Given the description of an element on the screen output the (x, y) to click on. 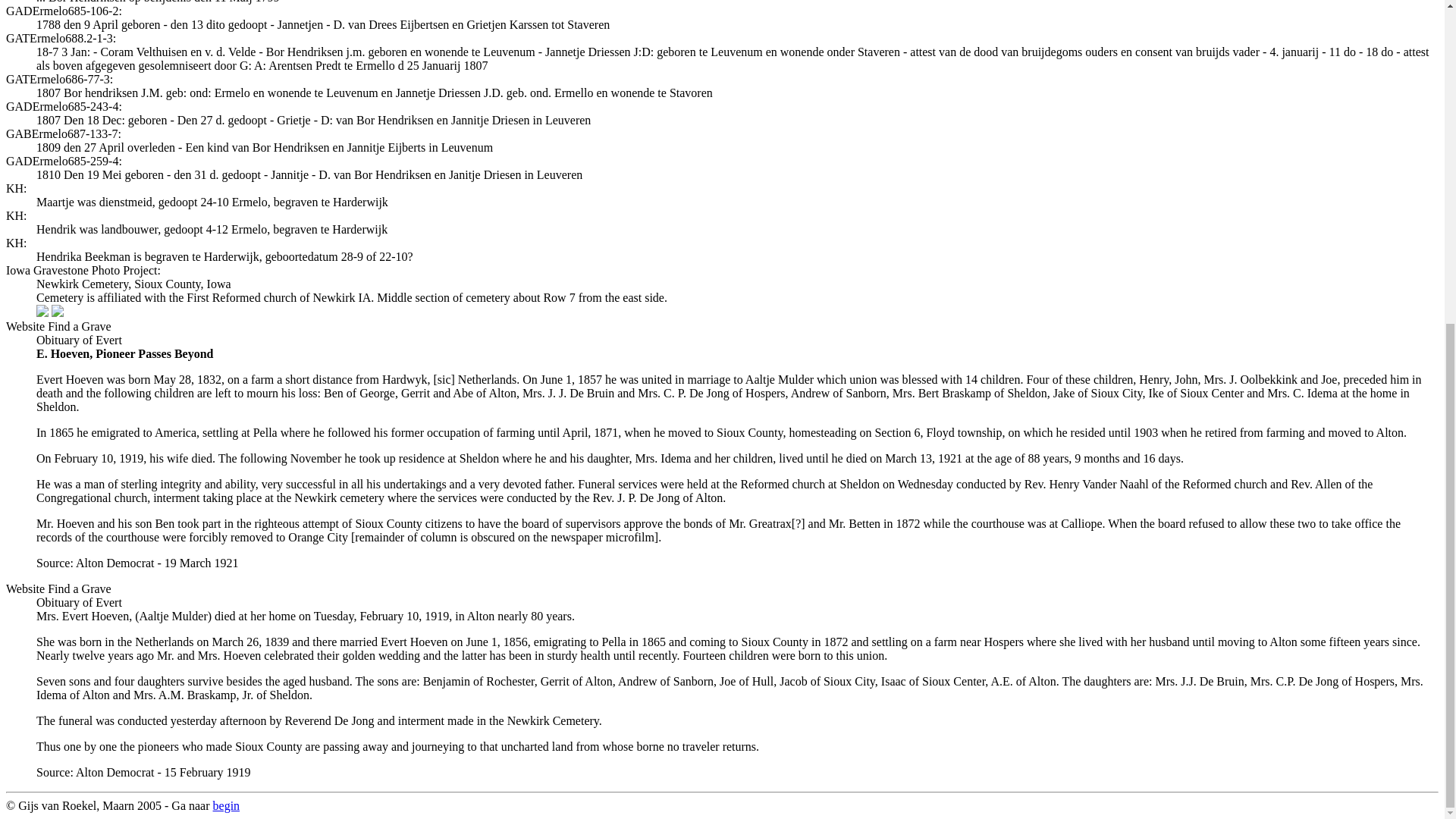
begin (226, 805)
